Given the description of an element on the screen output the (x, y) to click on. 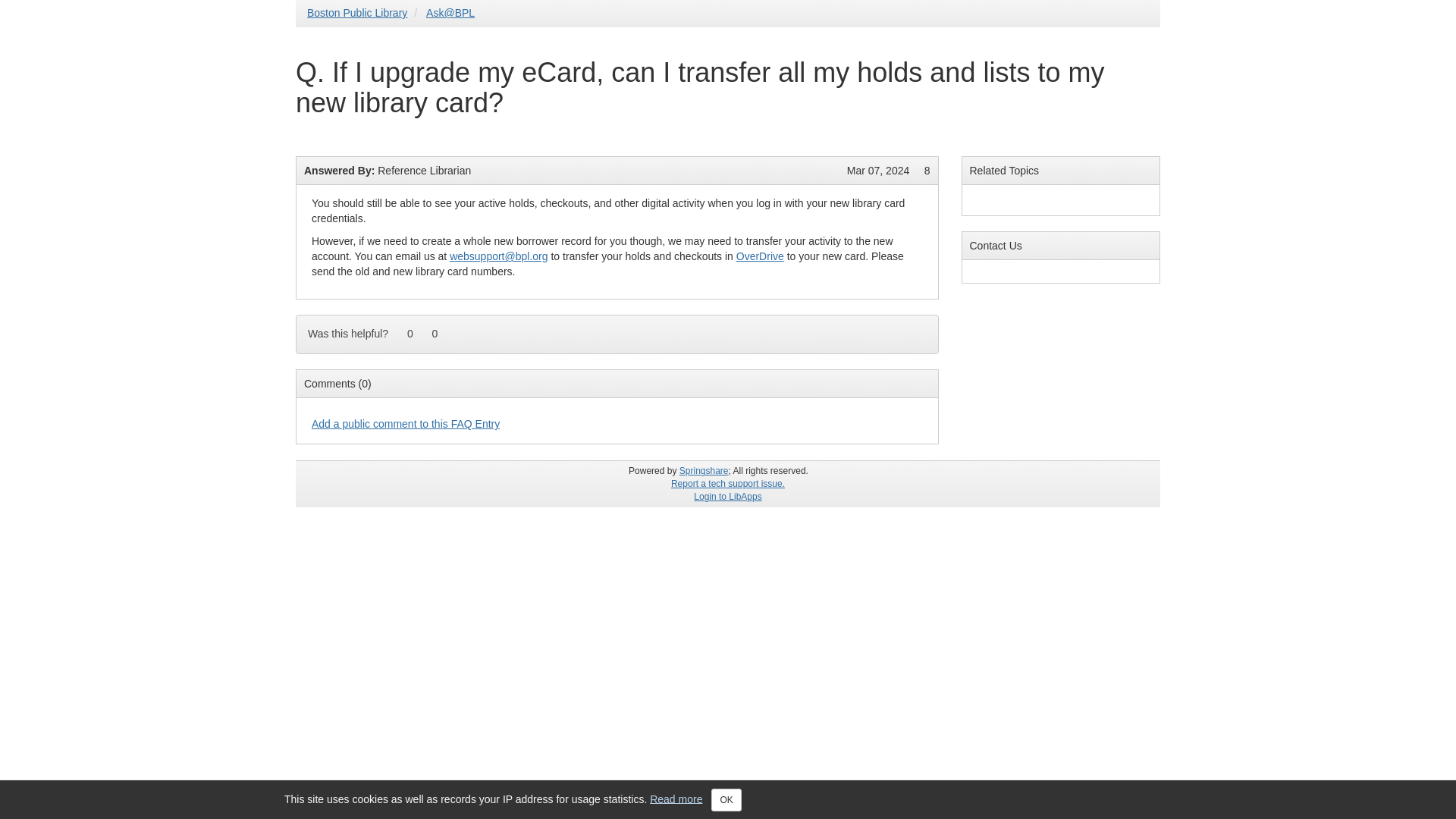
Add a public comment to this FAQ Entry (405, 423)
Tweet (902, 326)
OverDrive (760, 256)
Boston Public Library (357, 12)
Springshare (704, 470)
Login to LibApps (727, 496)
Report a tech support issue. (727, 483)
Print (880, 326)
Share on Facebook (925, 326)
Last Updated (878, 170)
